Given the description of an element on the screen output the (x, y) to click on. 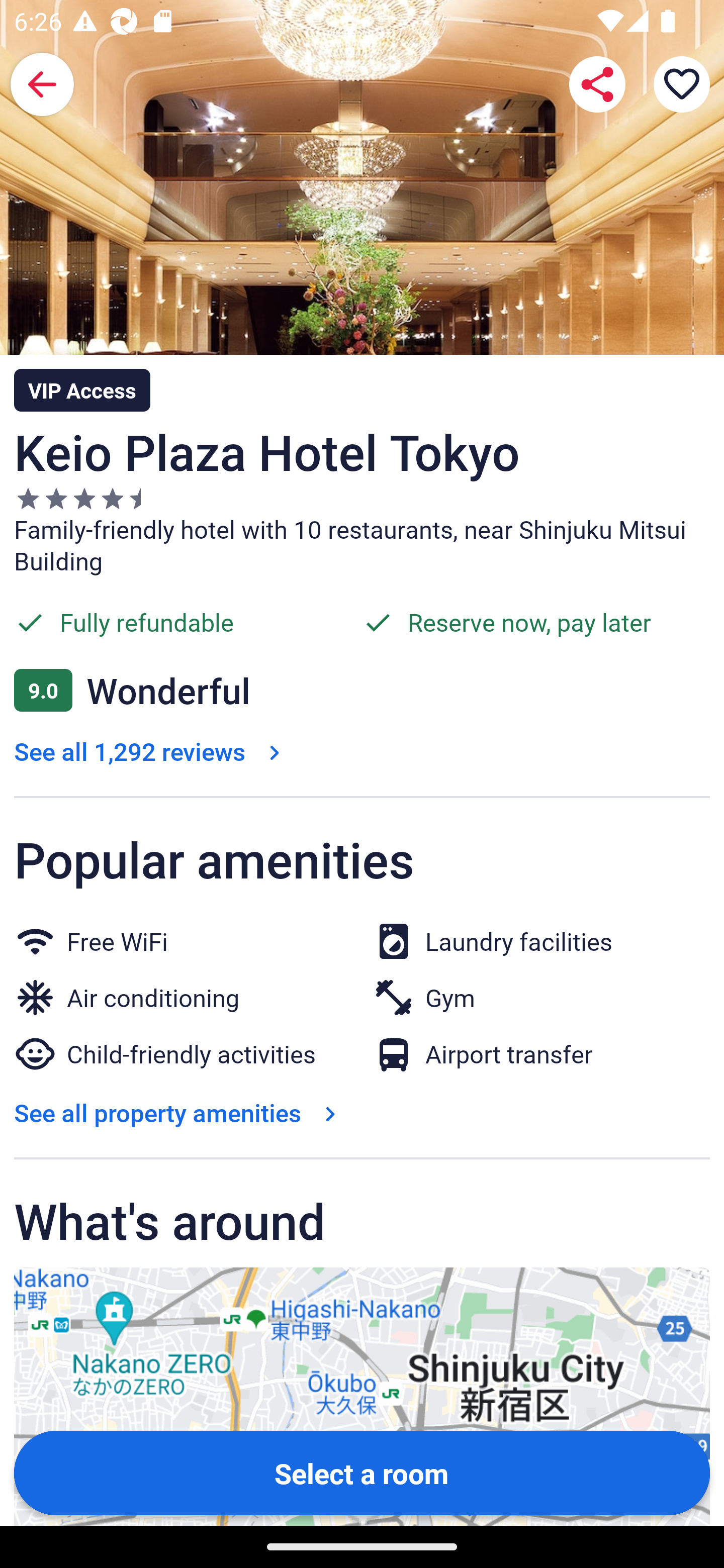
Back (42, 84)
Save property to a trip (681, 84)
Share Keio Plaza Hotel Tokyo (597, 84)
See all 1,292 reviews See all 1,292 reviews Link (150, 750)
See all property amenities (178, 1112)
Select a room Button Select a room (361, 1472)
